Given the description of an element on the screen output the (x, y) to click on. 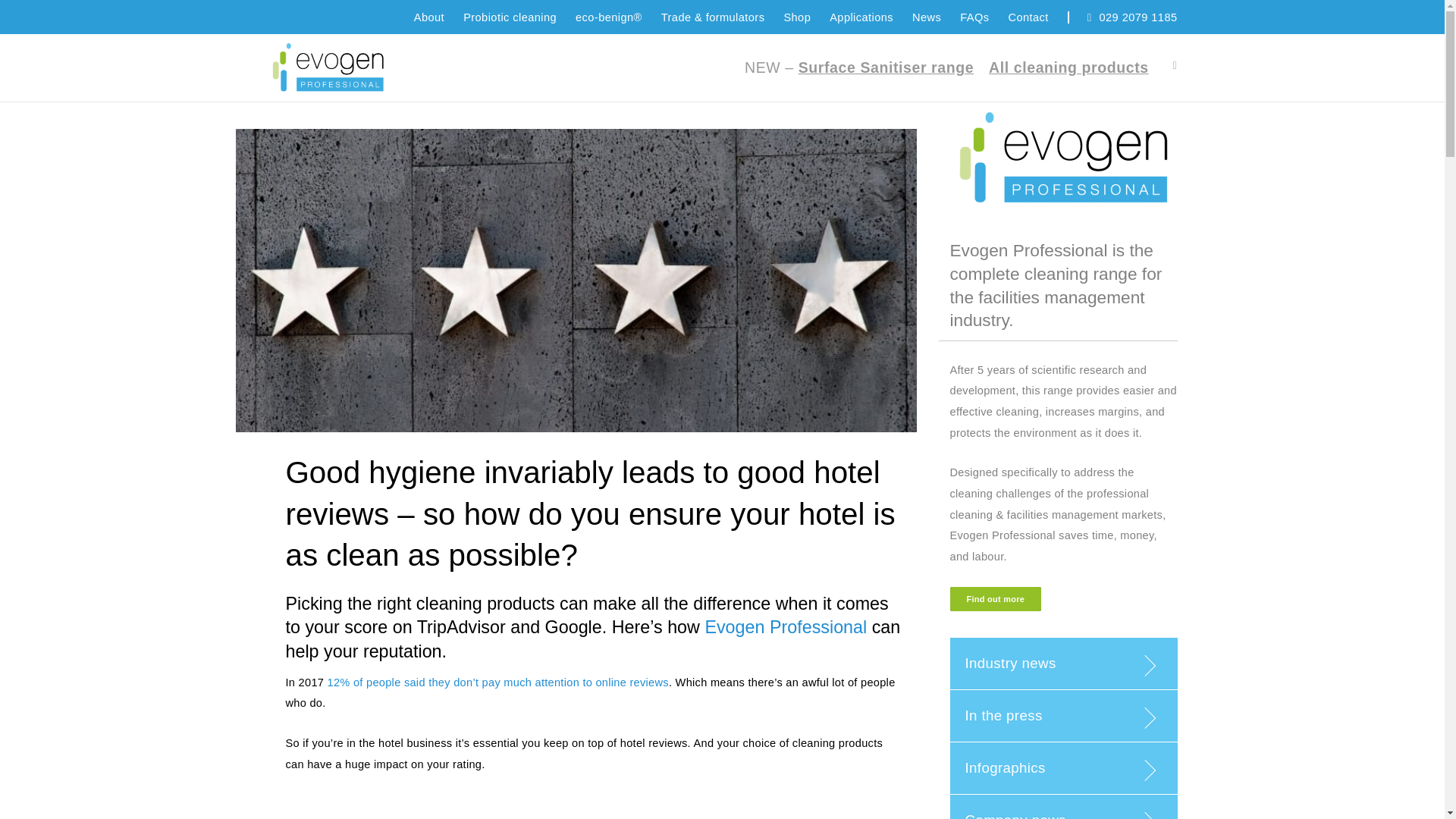
All cleaning products (1068, 67)
Contact (1018, 17)
News (916, 17)
About (419, 17)
Evogen Professional (785, 627)
FAQs (964, 17)
Shop professional cleaning products (787, 17)
029 2079 1185 (1112, 17)
Applications (851, 17)
Shop (787, 17)
Probiotic cleaning (500, 17)
Probiotic cleaning (500, 17)
